Given the description of an element on the screen output the (x, y) to click on. 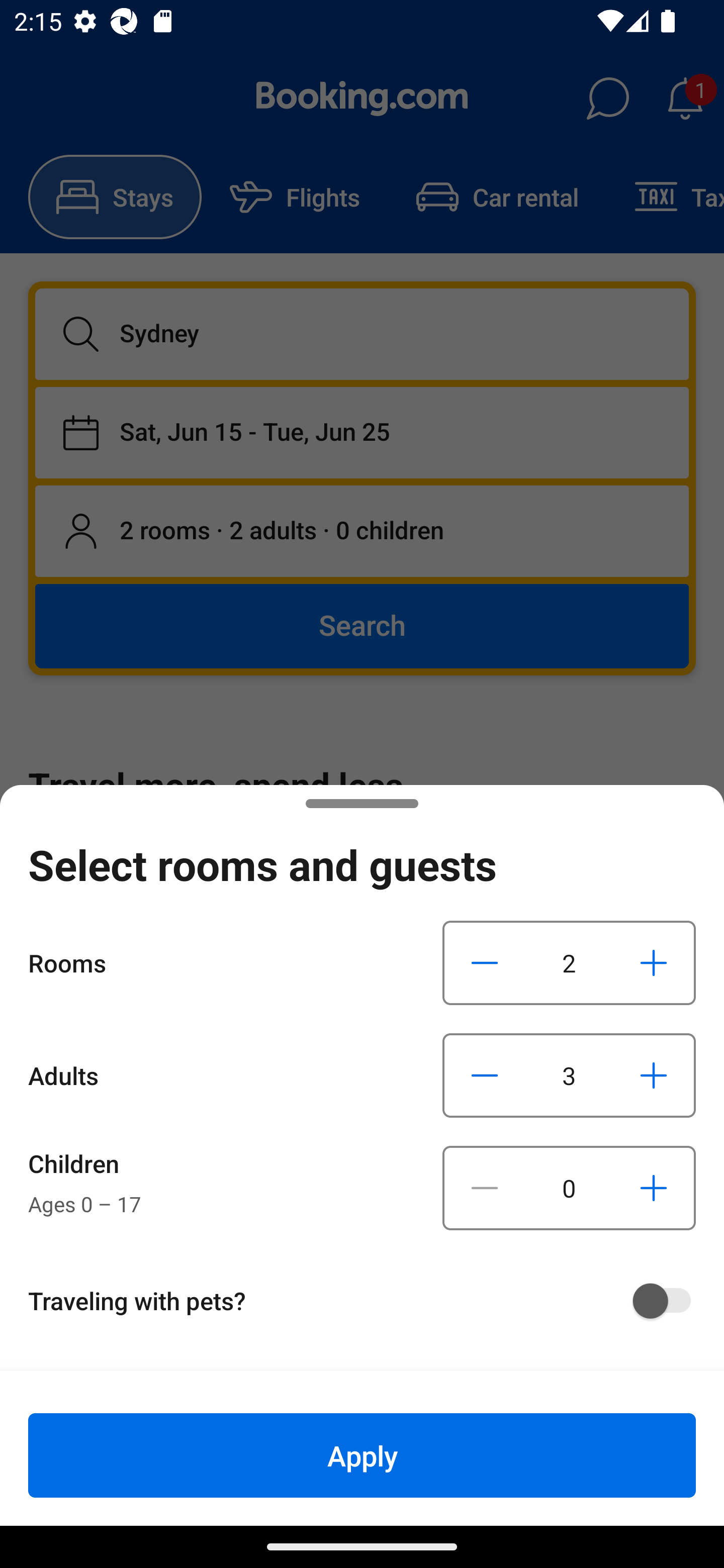
Decrease (484, 962)
Increase (653, 962)
Decrease (484, 1075)
Increase (653, 1075)
Decrease (484, 1188)
Increase (653, 1188)
Traveling with pets? (369, 1300)
Apply (361, 1454)
